Given the description of an element on the screen output the (x, y) to click on. 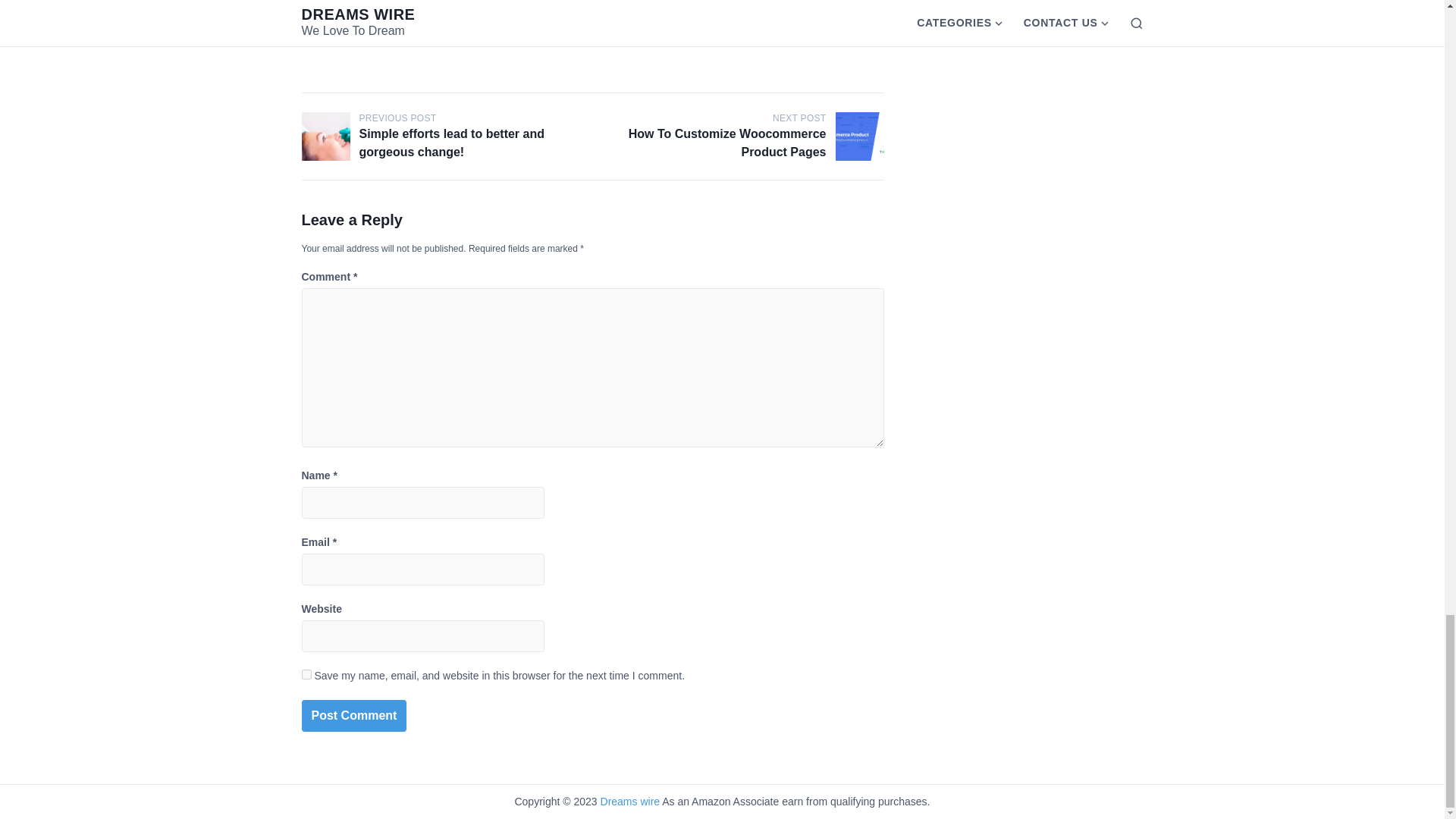
Post Comment (354, 716)
How To Customize Woocommerce Product Pages (859, 136)
Simple efforts lead to better and gorgeous change! (325, 136)
yes (306, 674)
